Given the description of an element on the screen output the (x, y) to click on. 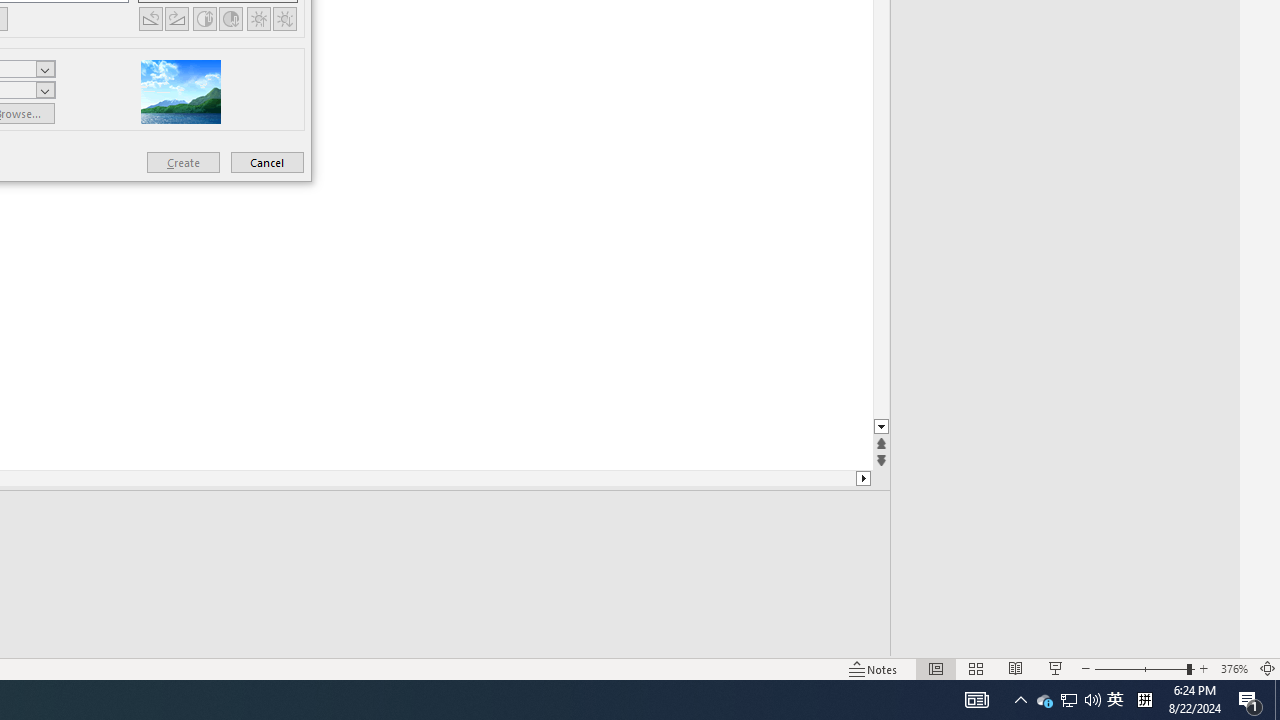
Less Contrast (230, 18)
